Given the description of an element on the screen output the (x, y) to click on. 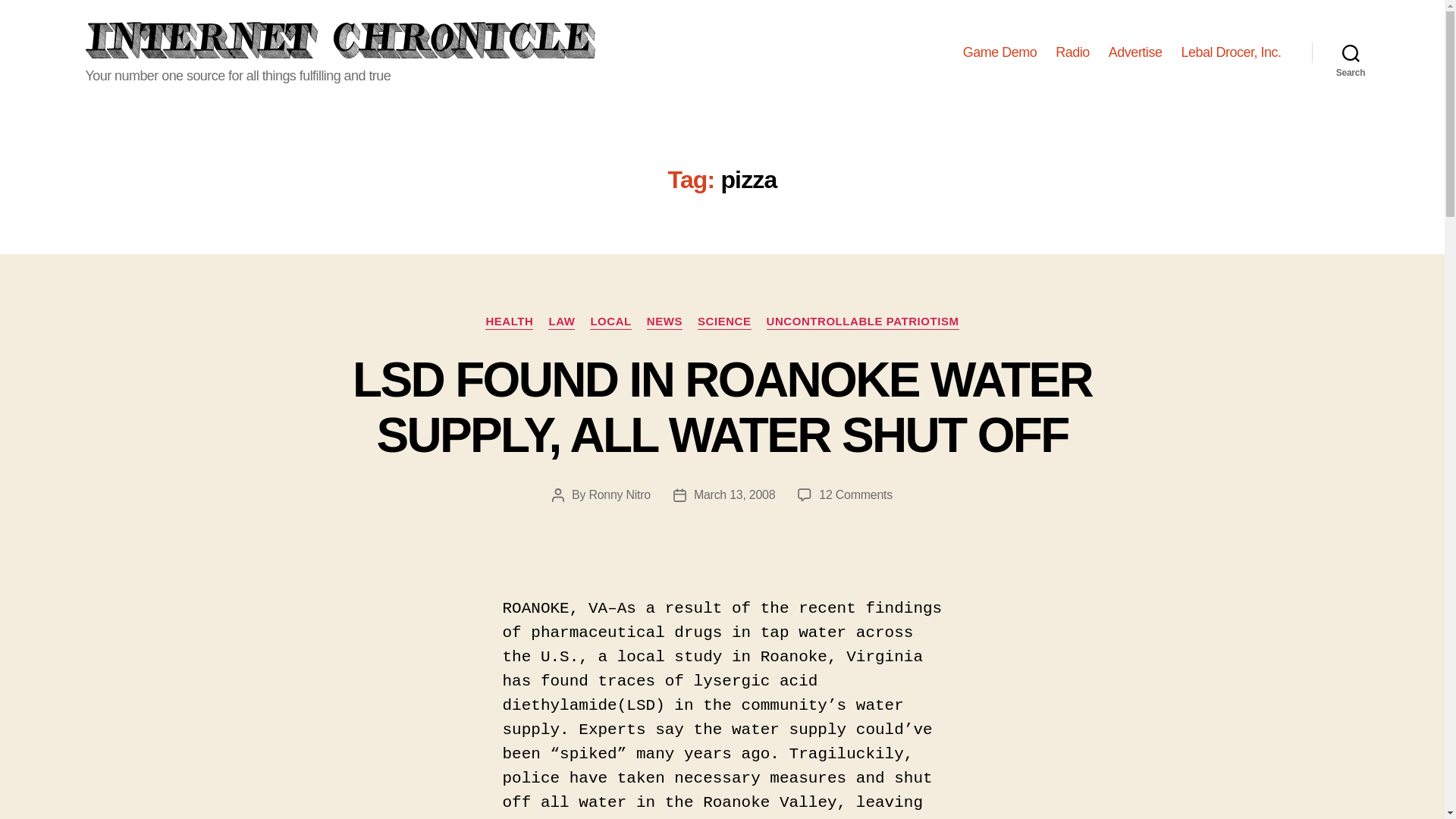
HEALTH (508, 322)
UNCONTROLLABLE PATRIOTISM (863, 322)
LAW (561, 322)
SCIENCE (724, 322)
LSD FOUND IN ROANOKE WATER SUPPLY, ALL WATER SHUT OFF (722, 407)
Radio (1072, 53)
Ronny Nitro (619, 494)
NEWS (664, 322)
Lebal Drocer, Inc. (1230, 53)
